Given the description of an element on the screen output the (x, y) to click on. 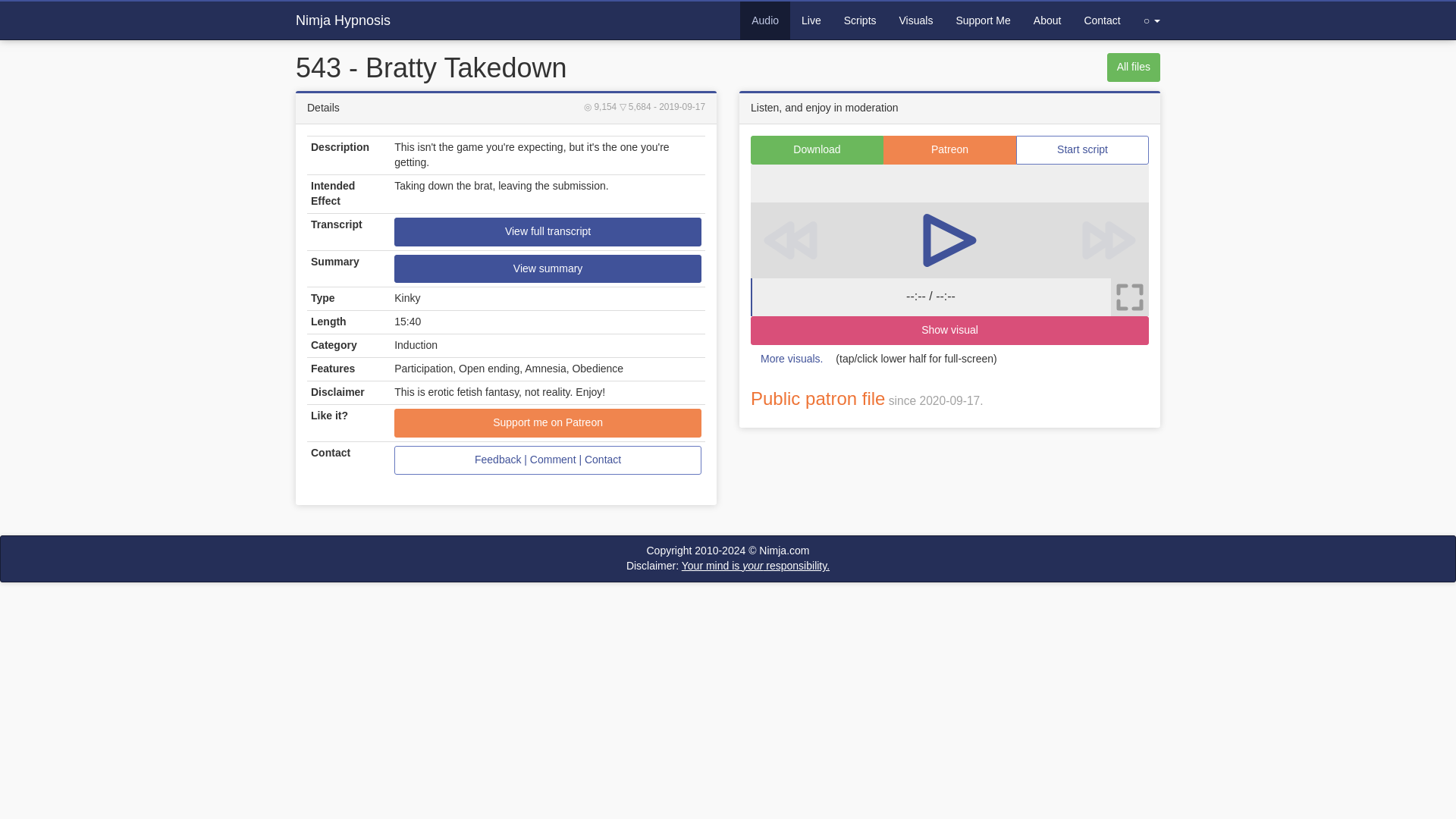
Patreon (949, 149)
All files (1133, 67)
View summary (547, 268)
Start Interactive Induction Script 543 - Bratty Takedown (1082, 149)
Nimja.com (783, 550)
About (1047, 20)
More visuals. (791, 358)
Show visual (949, 330)
Download (817, 149)
Contact (1101, 20)
Visuals (916, 20)
Release date (678, 106)
Disclaimer: Your mind is your responsibility. (727, 565)
Live (811, 20)
View full transcript (547, 231)
